Given the description of an element on the screen output the (x, y) to click on. 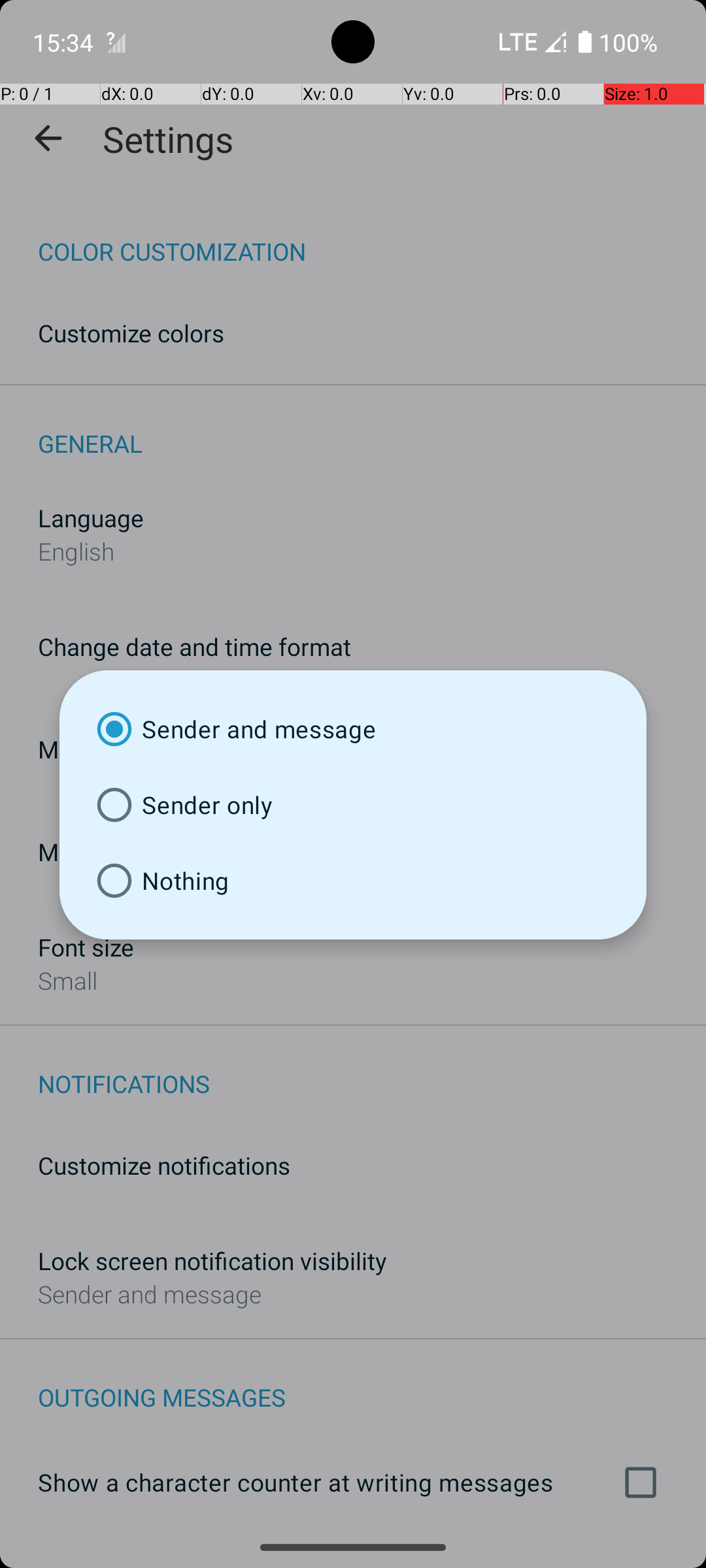
Sender and message Element type: android.widget.RadioButton (352, 729)
Sender only Element type: android.widget.RadioButton (352, 804)
Nothing Element type: android.widget.RadioButton (352, 880)
